Given the description of an element on the screen output the (x, y) to click on. 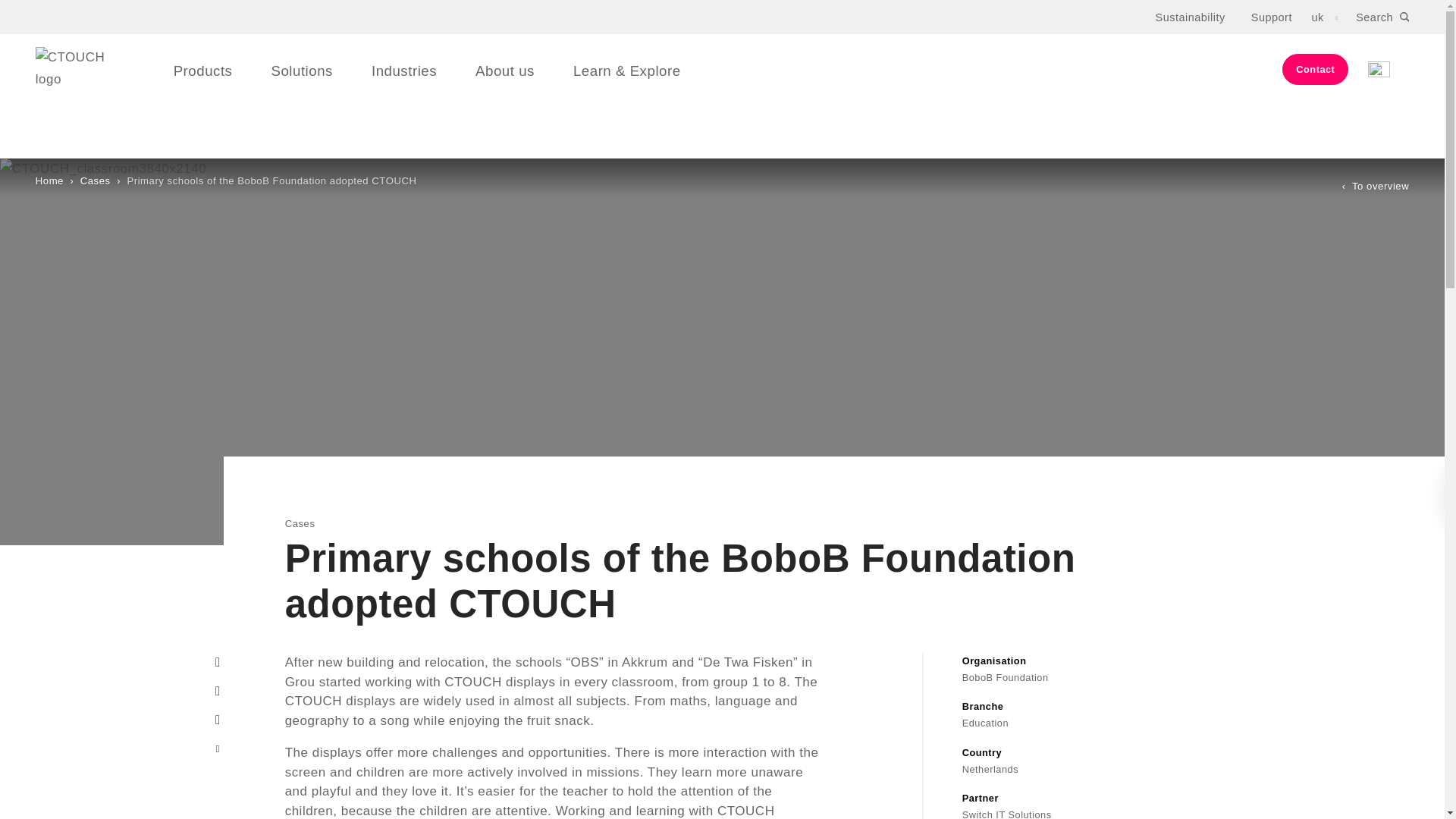
Sustainability (1190, 16)
